Given the description of an element on the screen output the (x, y) to click on. 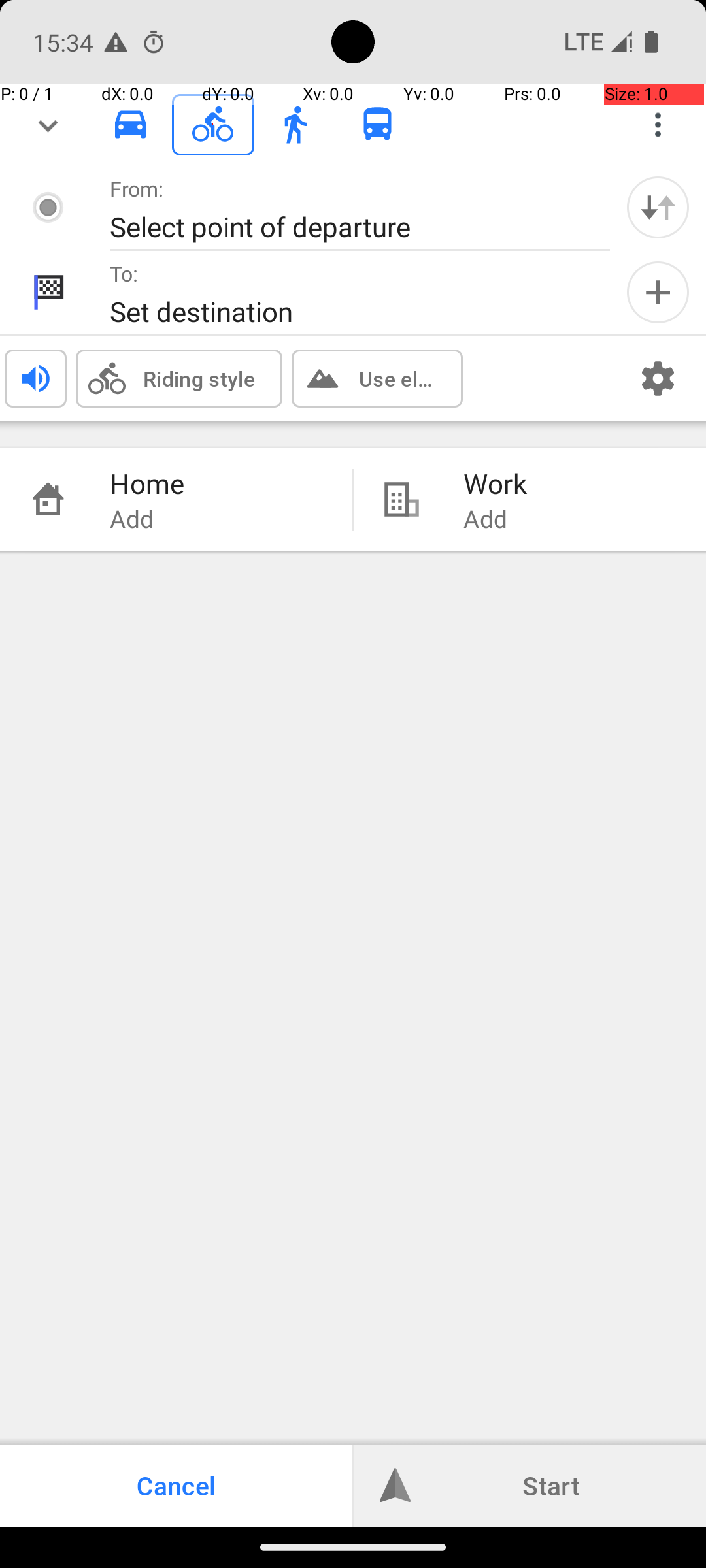
fold/unfold Element type: android.widget.ImageView (48, 124)
Choose app modes Element type: android.widget.ImageView (657, 124)
Driving Element type: android.widget.FrameLayout (130, 124)
Cycling Element type: android.widget.FrameLayout (212, 124)
Walking Element type: android.widget.FrameLayout (295, 124)
Public transport Element type: android.widget.FrameLayout (377, 124)
From: Element type: android.widget.TextView (136, 188)
Select point of departure Element type: android.widget.TextView (345, 226)
Swap Element type: android.widget.FrameLayout (657, 207)
To: Element type: android.widget.TextView (123, 273)
Set destination Element type: android.widget.TextView (345, 310)
Driving unchecked Element type: android.widget.ImageView (130, 124)
Cycling checked Element type: android.widget.ImageView (212, 124)
Walking unchecked Element type: android.widget.ImageView (294, 124)
Public transport unchecked Element type: android.widget.ImageView (377, 124)
Riding style Element type: android.widget.TextView (198, 378)
Use elevation data Element type: android.widget.TextView (396, 378)
